Given the description of an element on the screen output the (x, y) to click on. 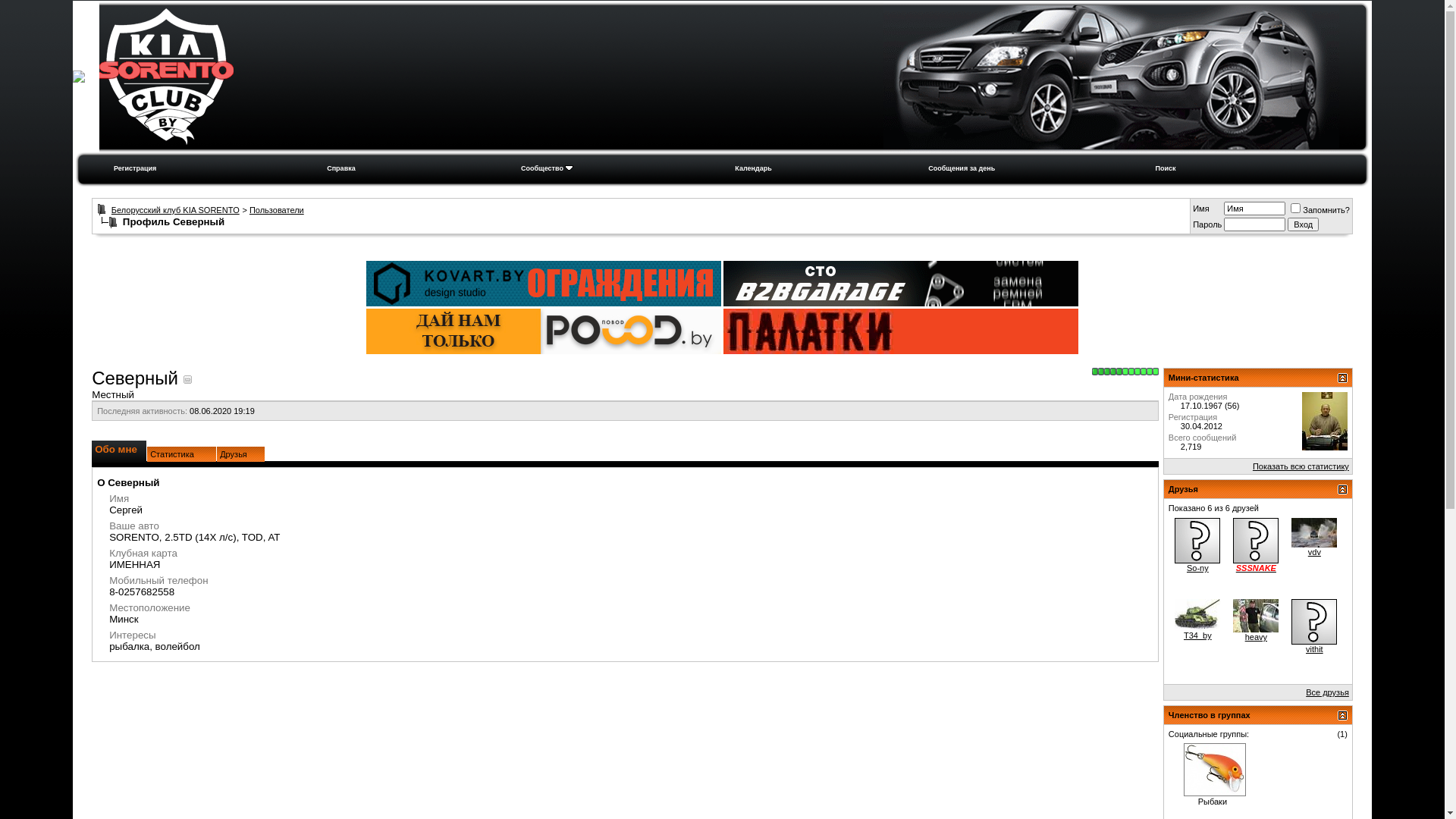
vdv Element type: hover (1313, 532)
SSSNAKE Element type: text (1256, 567)
heavy Element type: hover (1255, 615)
KIA-SORENTO-CLUB.BY Element type: hover (166, 76)
SSSNAKE Element type: hover (1255, 540)
heavy Element type: text (1256, 636)
vdv Element type: text (1314, 551)
So-ny Element type: hover (1197, 540)
vithit Element type: text (1314, 648)
So-ny Element type: text (1197, 567)
vithit Element type: hover (1313, 621)
KIA-SORENTO-CLUB.BY Element type: hover (1111, 76)
T34_by Element type: hover (1197, 614)
T34_by Element type: text (1197, 635)
